Given the description of an element on the screen output the (x, y) to click on. 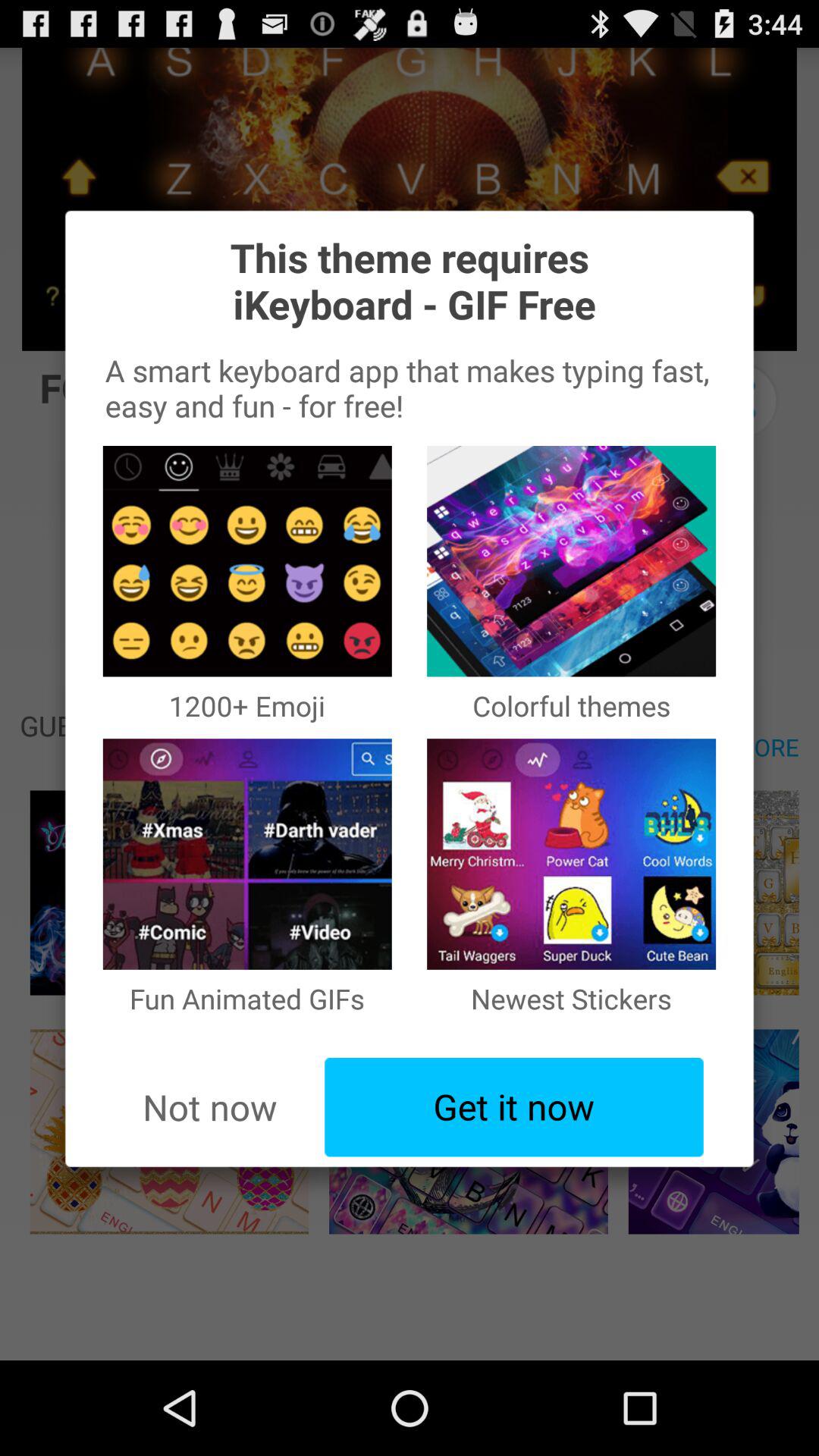
turn off the get it now (513, 1106)
